Given the description of an element on the screen output the (x, y) to click on. 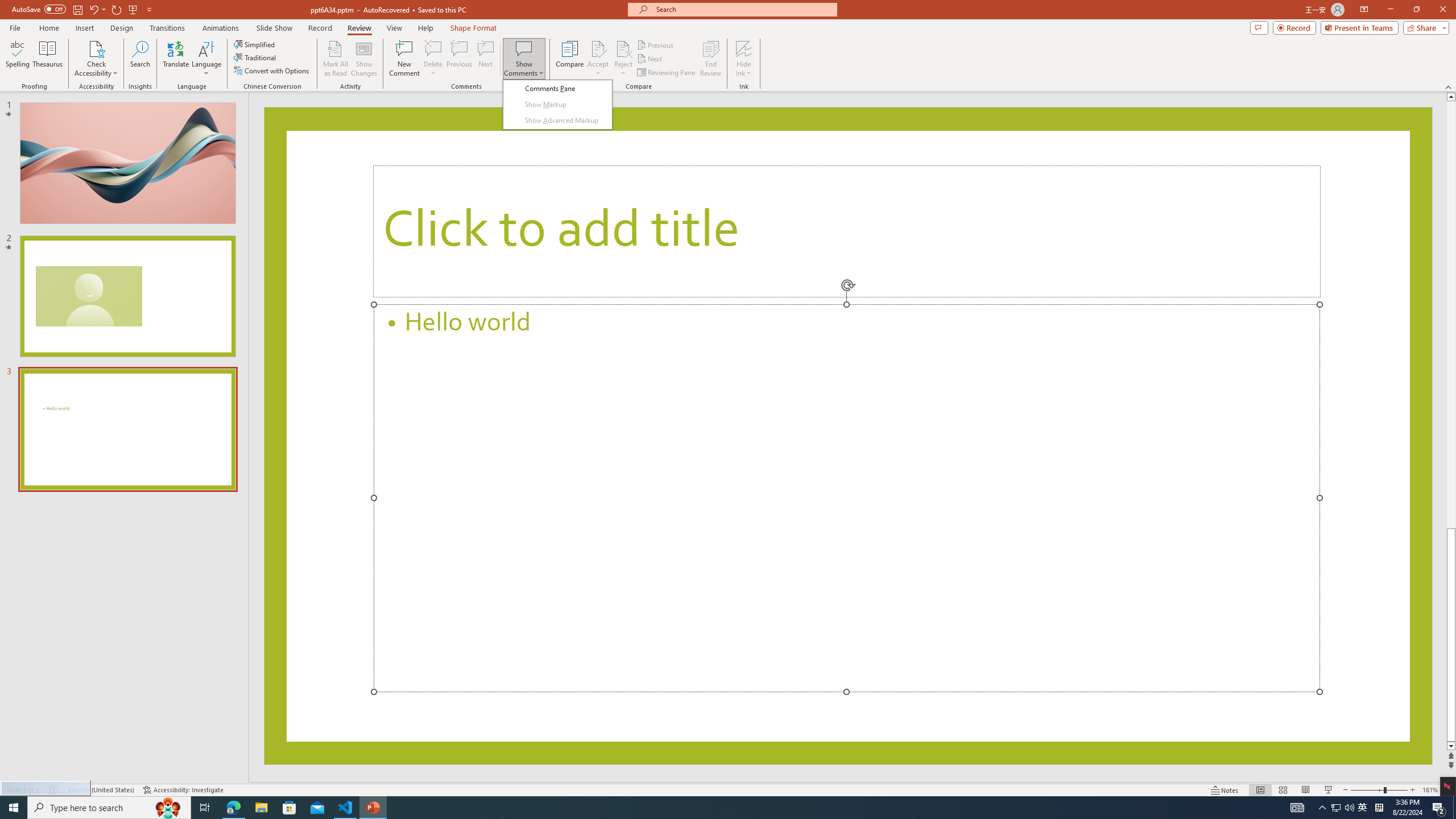
Zoom 161% (1430, 790)
